Given the description of an element on the screen output the (x, y) to click on. 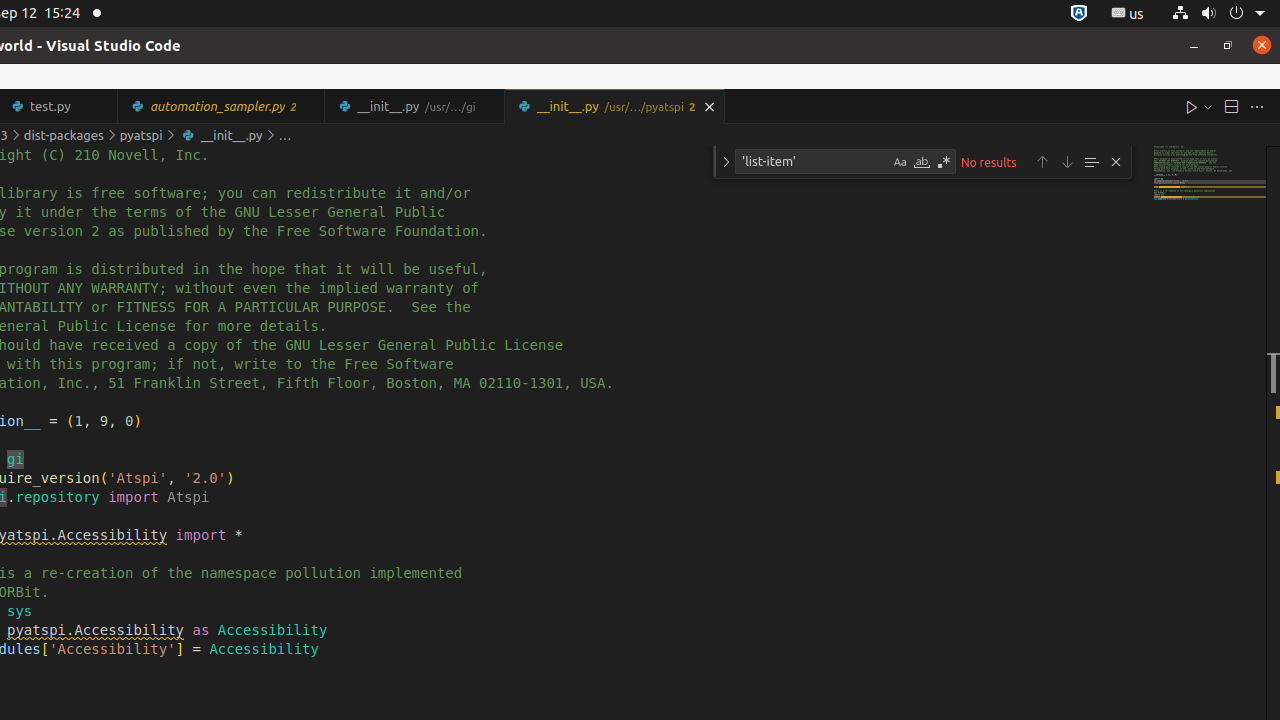
Toggle Replace Element type: push-button (726, 162)
Next Match (Enter) Element type: push-button (1067, 161)
Match Case (Alt+C) Element type: check-box (900, 162)
Use Regular Expression (Alt+R) Element type: check-box (944, 162)
